Given the description of an element on the screen output the (x, y) to click on. 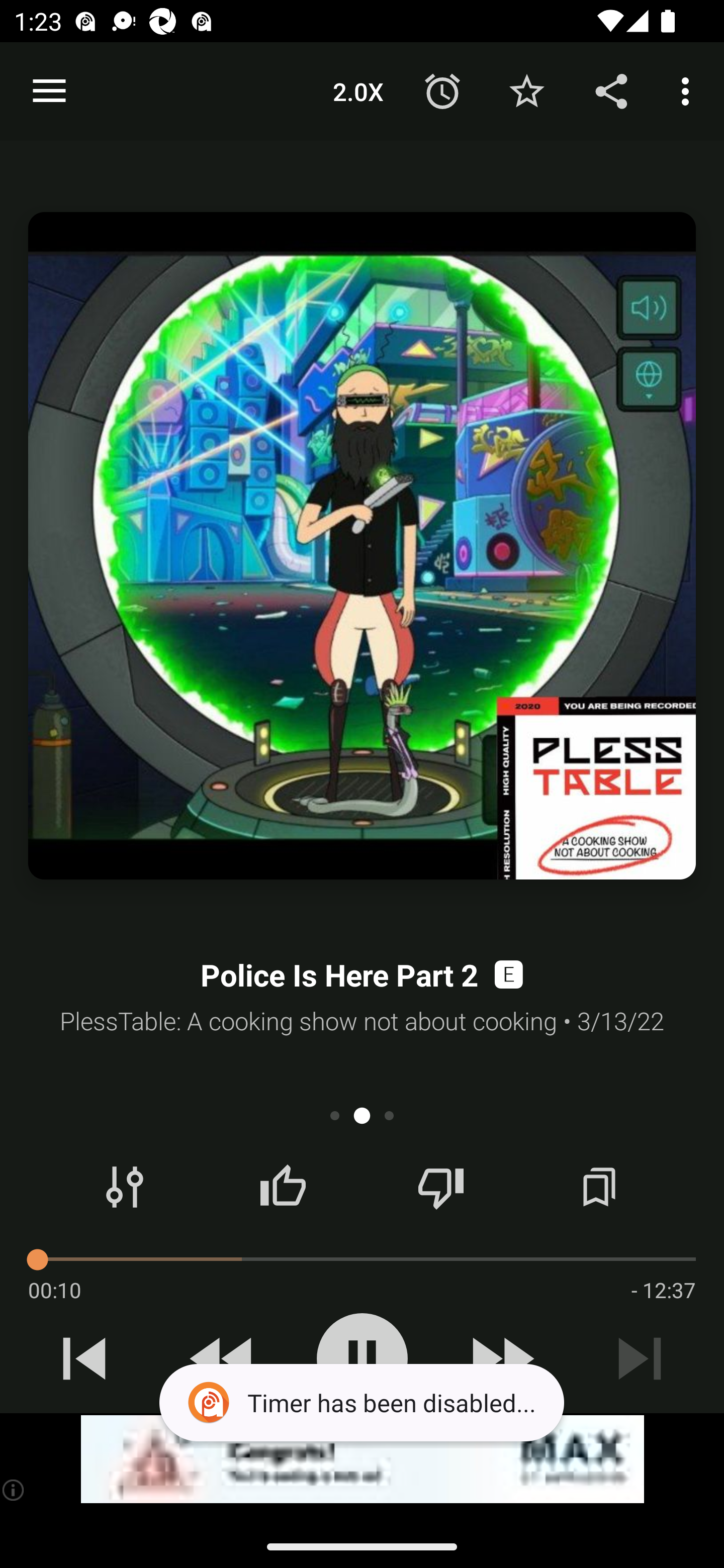
Open navigation sidebar (49, 91)
2.0X (357, 90)
Sleep Timer (442, 90)
Favorite (526, 90)
Share (611, 90)
More options (688, 90)
Episode description (361, 545)
Audio effects (124, 1186)
Thumbs up (283, 1186)
Thumbs down (440, 1186)
Chapters / Bookmarks (598, 1186)
- 12:37 (663, 1289)
Previous track (84, 1358)
Next track (639, 1358)
app-monetization (362, 1459)
(i) (14, 1489)
